Given the description of an element on the screen output the (x, y) to click on. 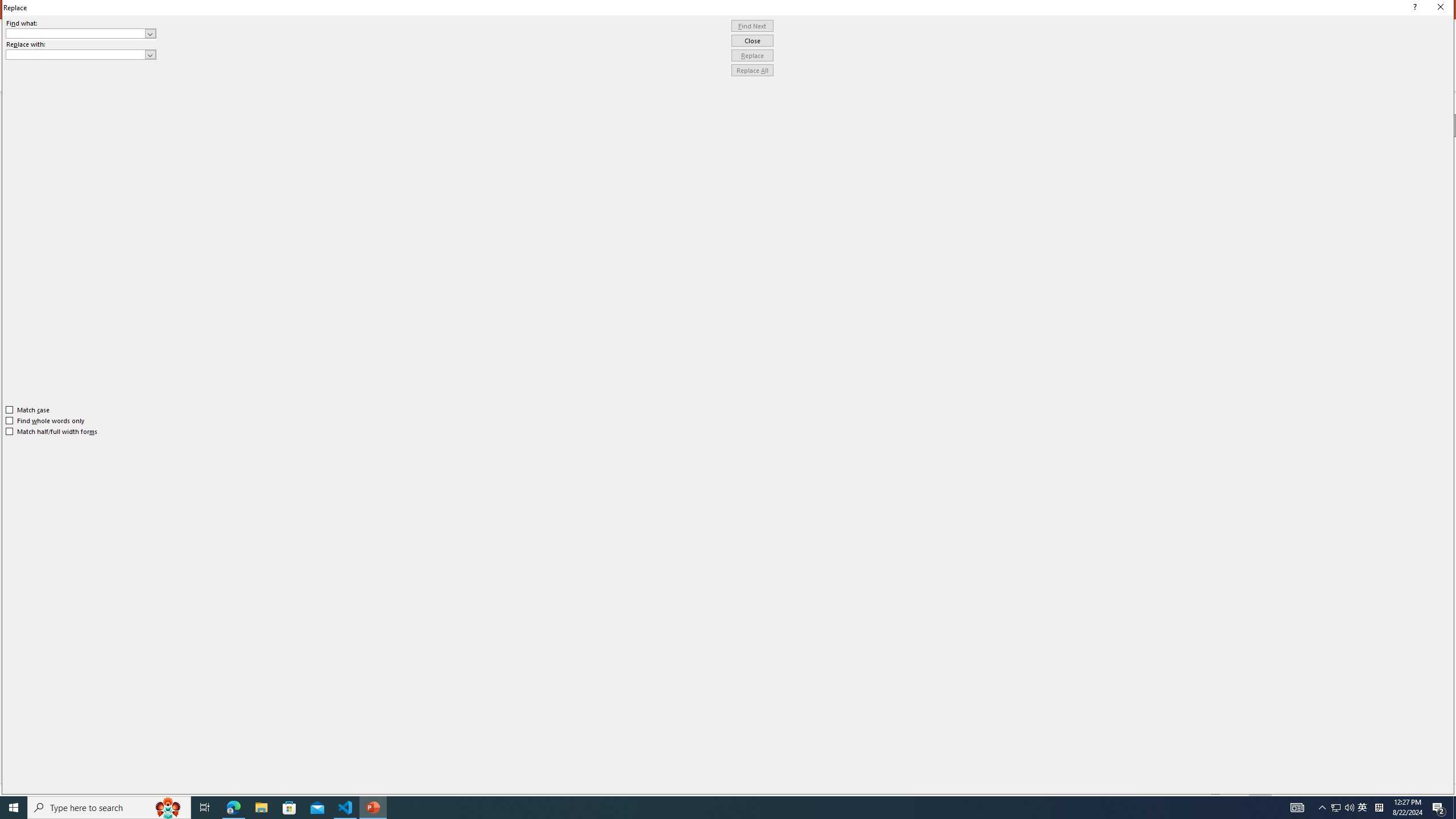
Replace All (752, 69)
Find what (80, 33)
Match case (27, 409)
Find Next (752, 25)
Match half/full width forms (52, 431)
Replace with (80, 54)
Find whole words only (45, 420)
Replace (752, 55)
Find what (75, 33)
Replace with (75, 53)
